Given the description of an element on the screen output the (x, y) to click on. 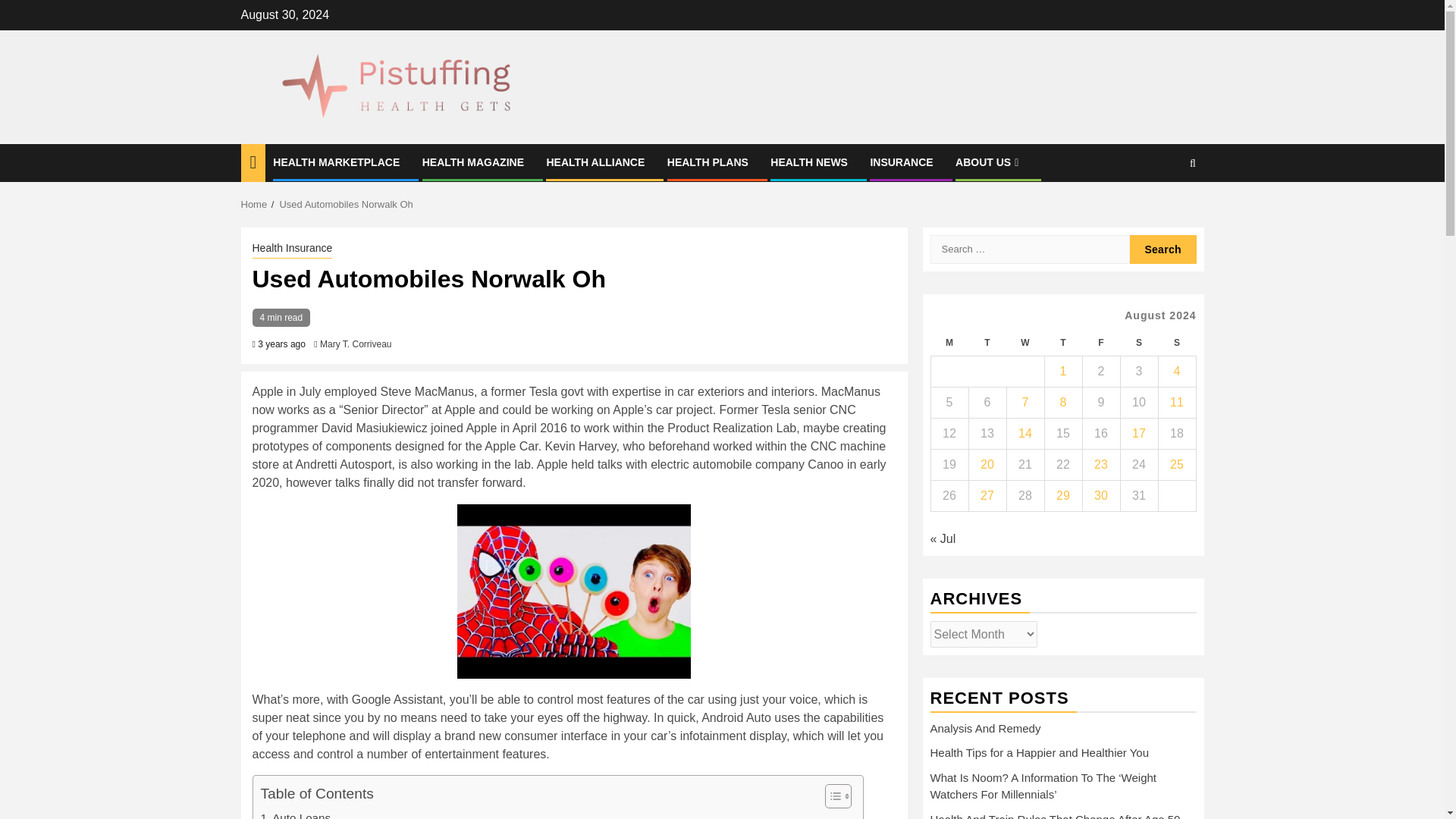
Search (1163, 208)
HEALTH NEWS (808, 162)
HEALTH MARKETPLACE (335, 162)
Auto Loans (295, 814)
Home (254, 204)
Auto Loans (295, 814)
Tuesday (987, 343)
Thursday (1062, 343)
Wednesday (1024, 343)
HEALTH MAGAZINE (473, 162)
